Given the description of an element on the screen output the (x, y) to click on. 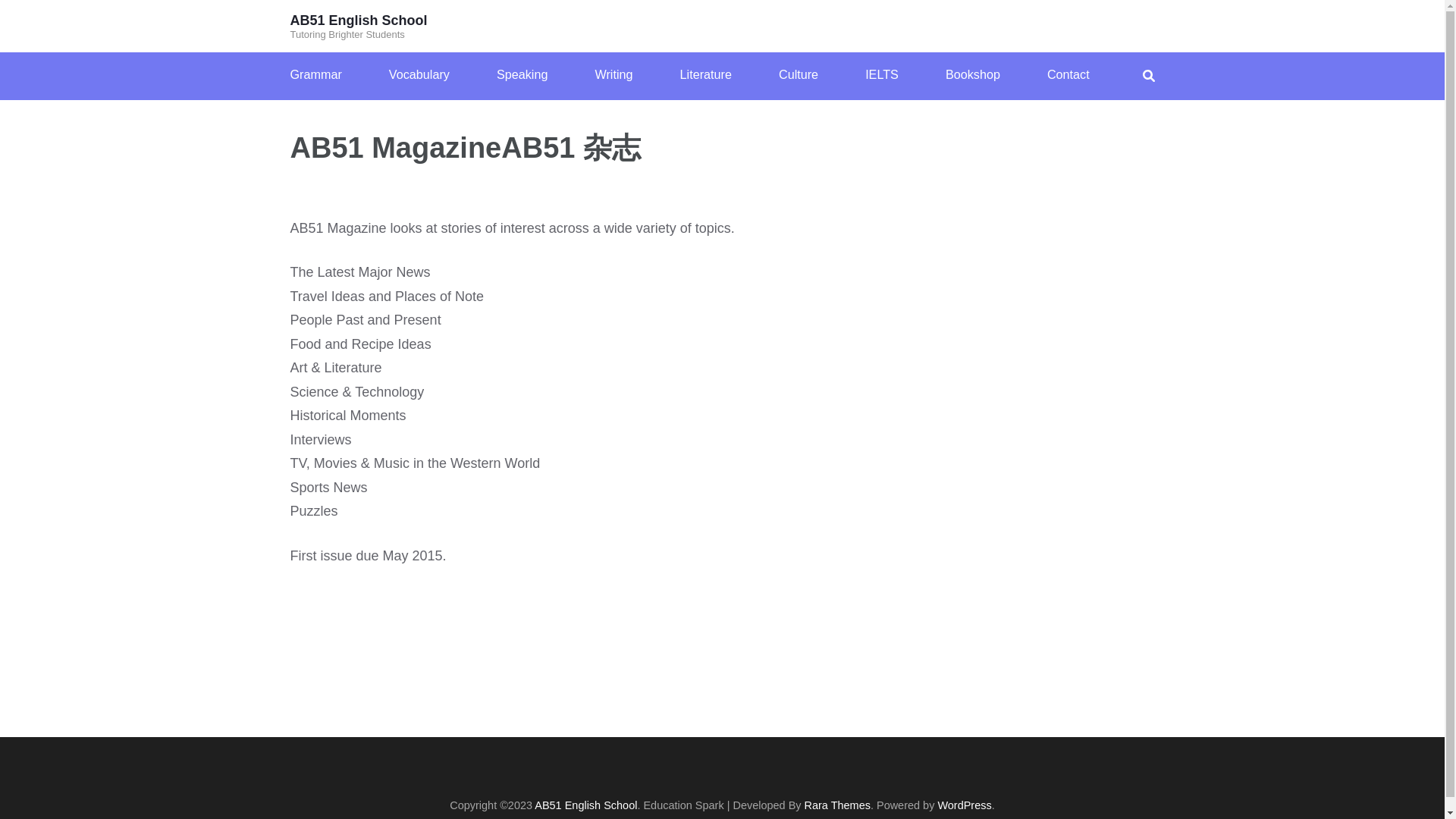
Contact (1067, 74)
Speaking (522, 74)
AB51 English School (357, 20)
WordPress (964, 805)
Vocabulary (418, 74)
Grammar (314, 74)
Rara Themes (837, 805)
AB51 English School (585, 805)
Literature (705, 74)
Bookshop (972, 74)
